Given the description of an element on the screen output the (x, y) to click on. 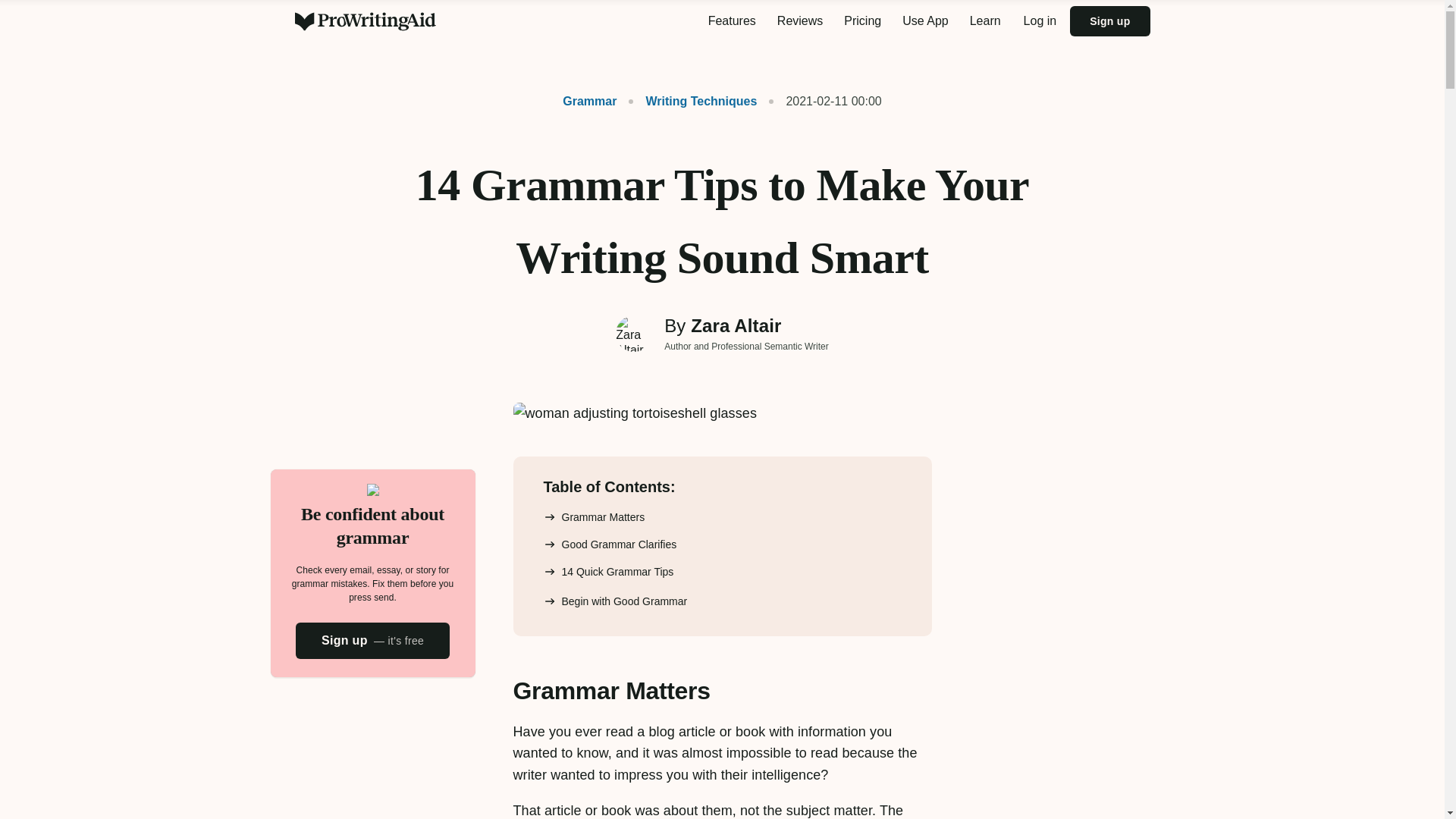
Grammar Matters (594, 516)
Grammar (589, 101)
14 Quick Grammar Tips (607, 571)
Learn (985, 21)
Writing Techniques (692, 101)
Log in (1039, 21)
Sign up (1110, 20)
Reviews (799, 21)
Pricing (861, 21)
Good Grammar Clarifies (610, 544)
